Given the description of an element on the screen output the (x, y) to click on. 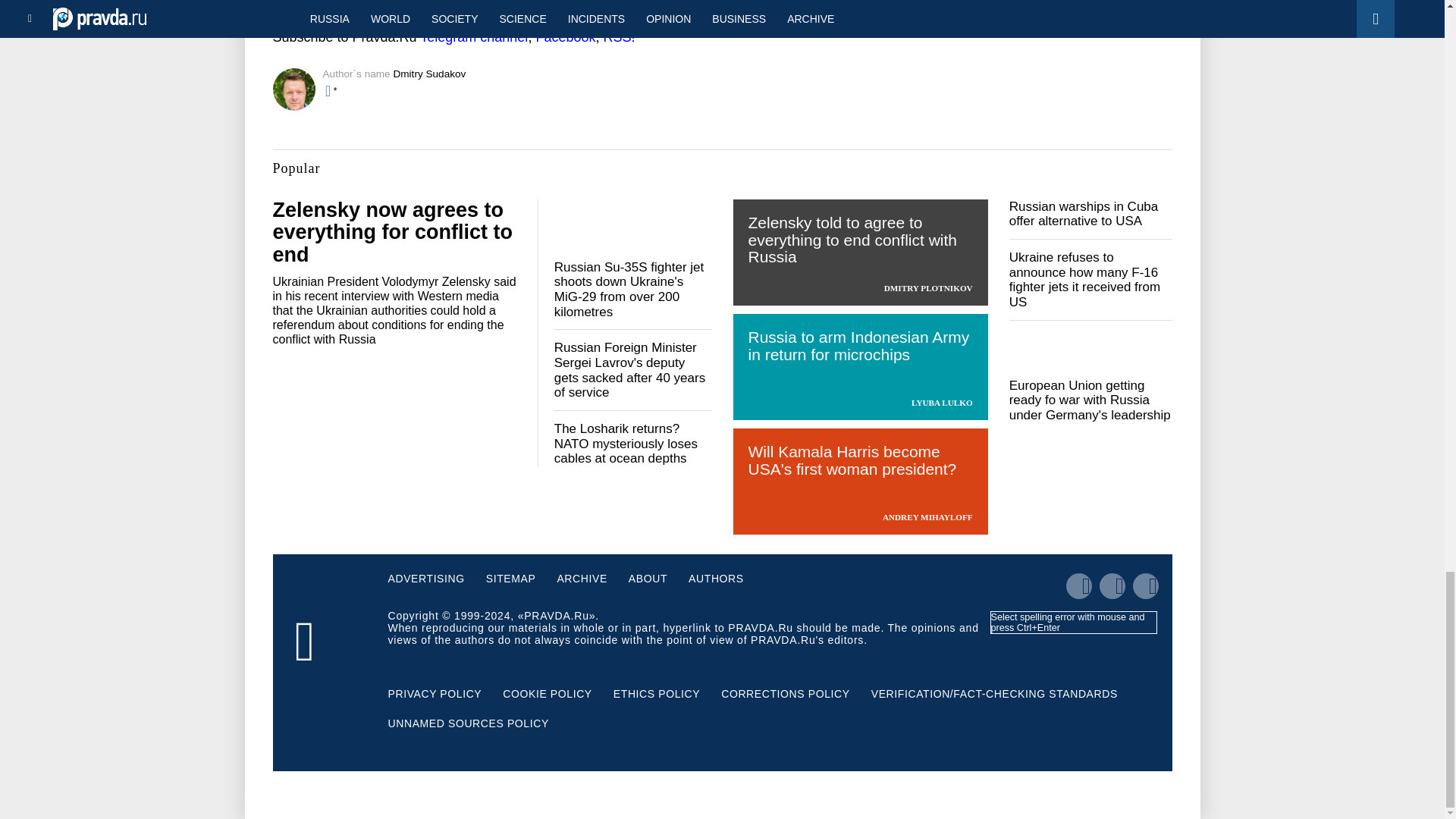
Facebook (565, 37)
RSS (616, 37)
Telegram channel (473, 37)
Dmitry Sudakov (429, 73)
